Given the description of an element on the screen output the (x, y) to click on. 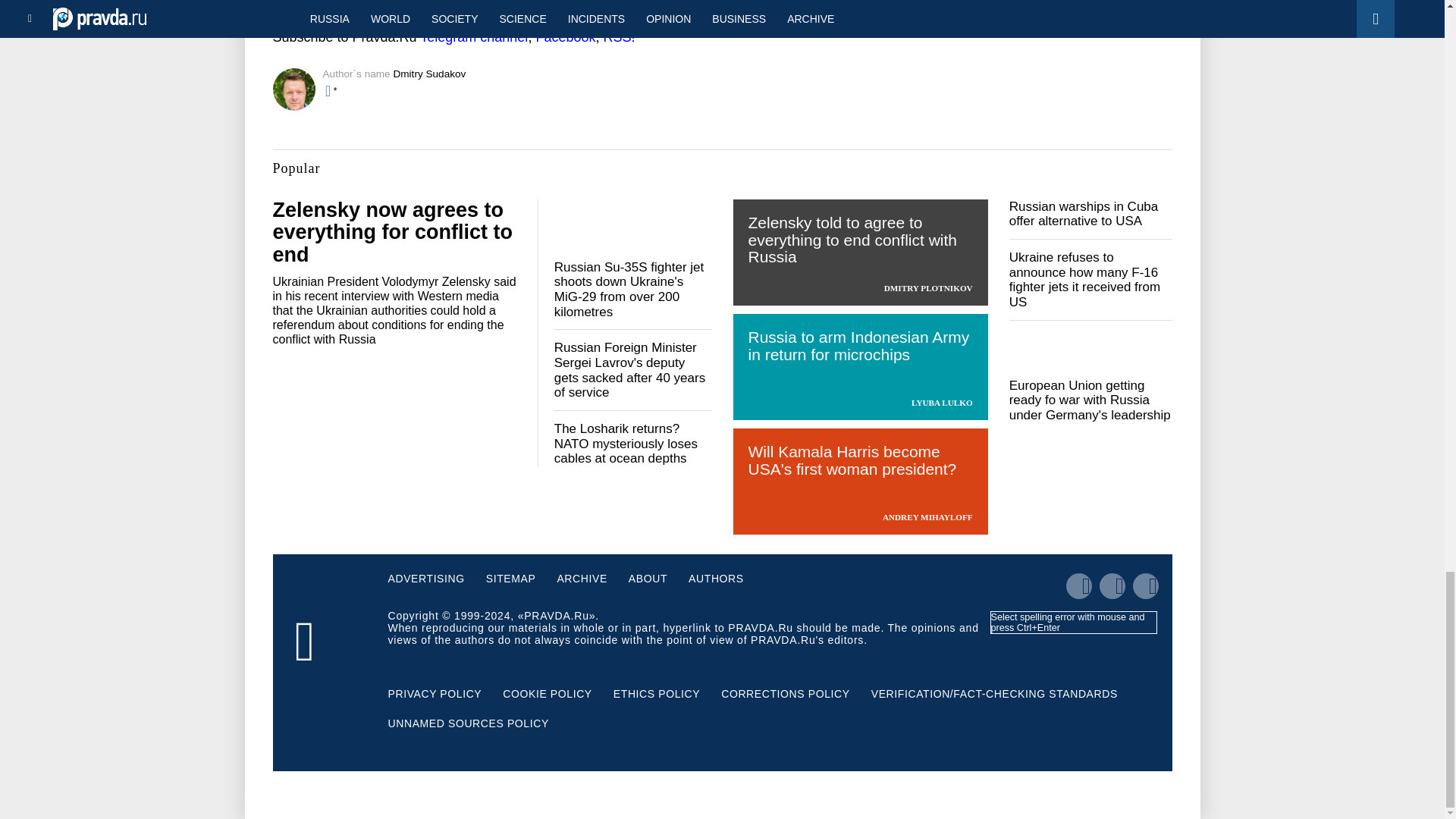
Facebook (565, 37)
RSS (616, 37)
Telegram channel (473, 37)
Dmitry Sudakov (429, 73)
